Given the description of an element on the screen output the (x, y) to click on. 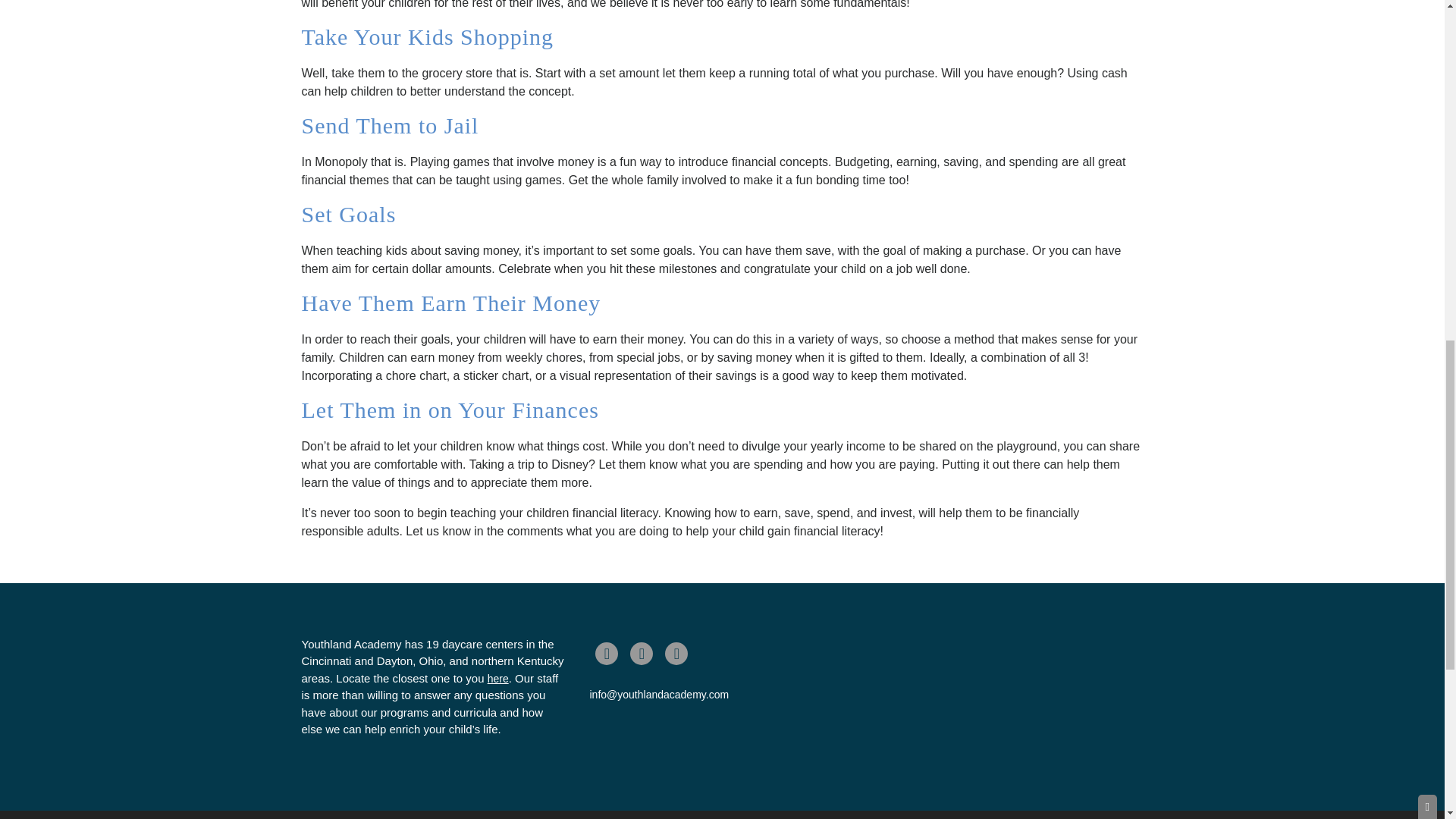
pinterest (676, 653)
here (497, 678)
facebook (606, 653)
twitter (641, 653)
